Given the description of an element on the screen output the (x, y) to click on. 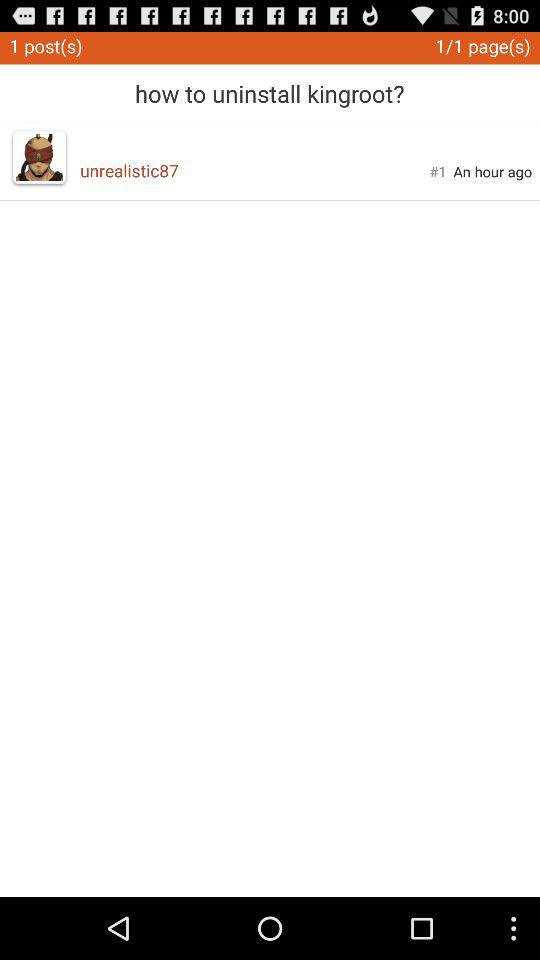
open icon next to the 1 post(s) (269, 86)
